Given the description of an element on the screen output the (x, y) to click on. 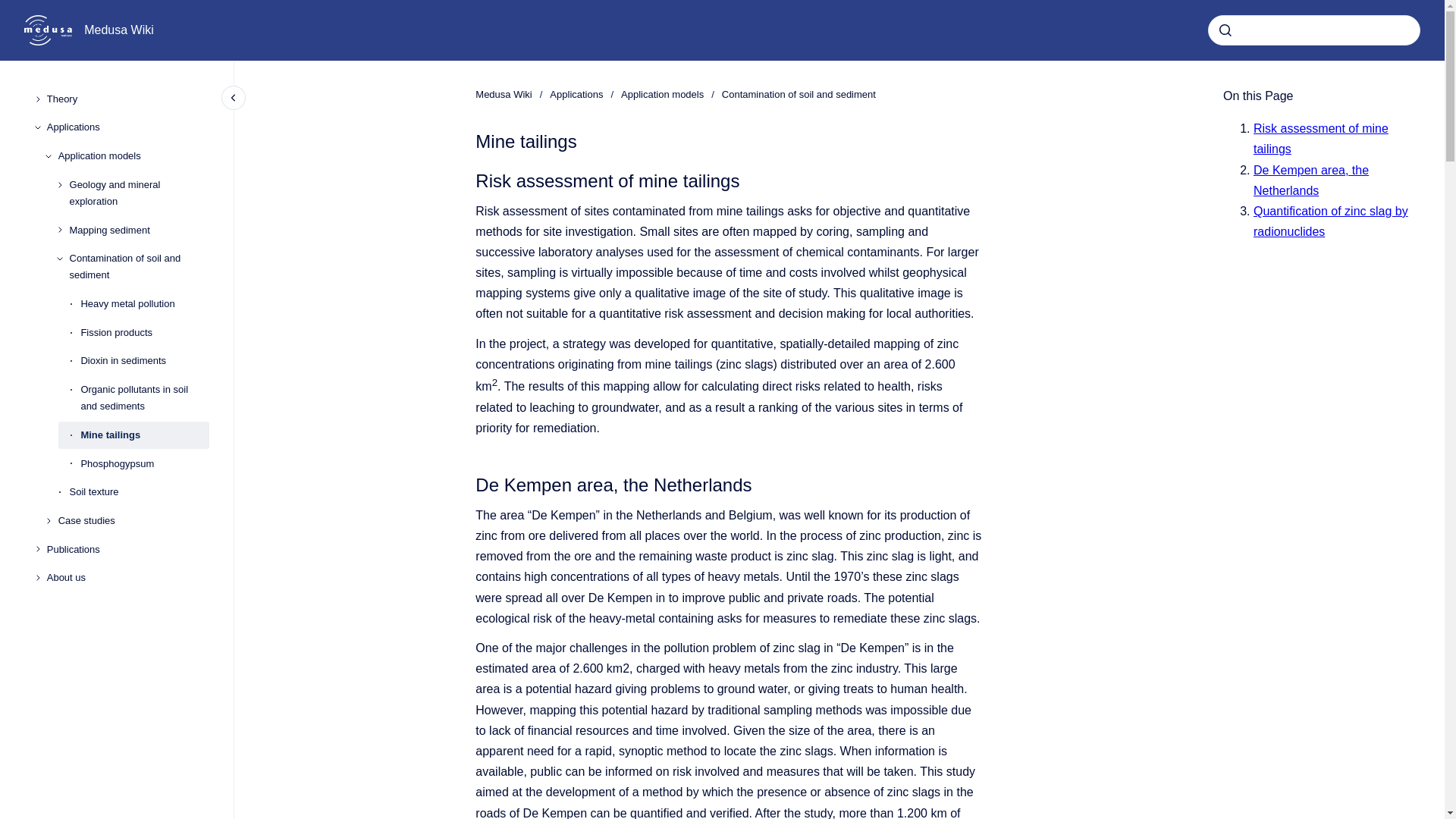
Phosphogypsum (144, 463)
Theory (127, 99)
Publications (127, 549)
Organic pollutants in soil and sediments (144, 397)
Geology and mineral exploration (139, 193)
Case studies (133, 520)
Application models (662, 94)
Application models (133, 155)
Contamination of soil and sediment (799, 94)
Soil texture (139, 492)
